Given the description of an element on the screen output the (x, y) to click on. 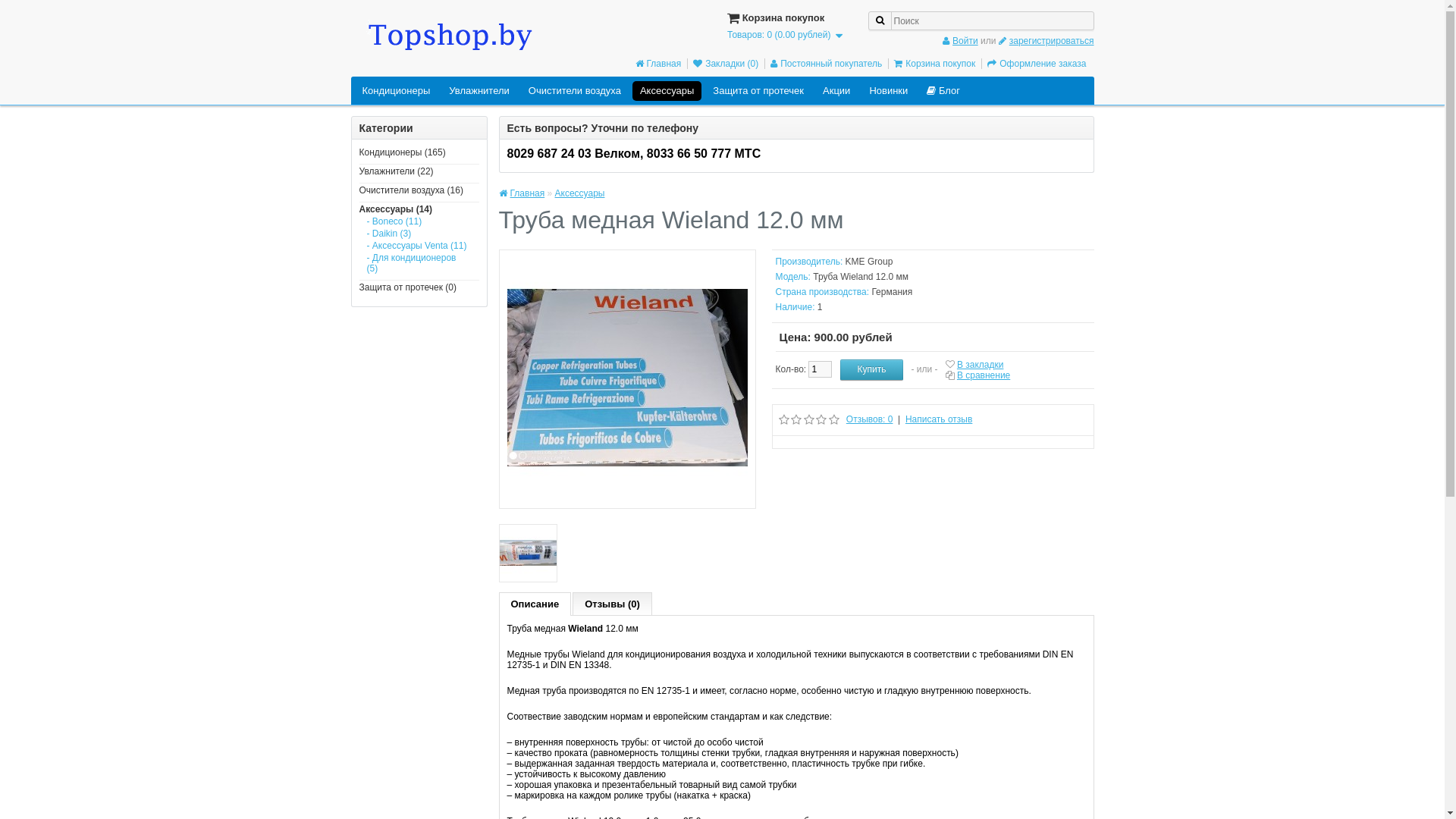
KME Group Element type: text (869, 261)
- Daikin (3) Element type: text (418, 233)
- Boneco (11) Element type: text (418, 221)
